Given the description of an element on the screen output the (x, y) to click on. 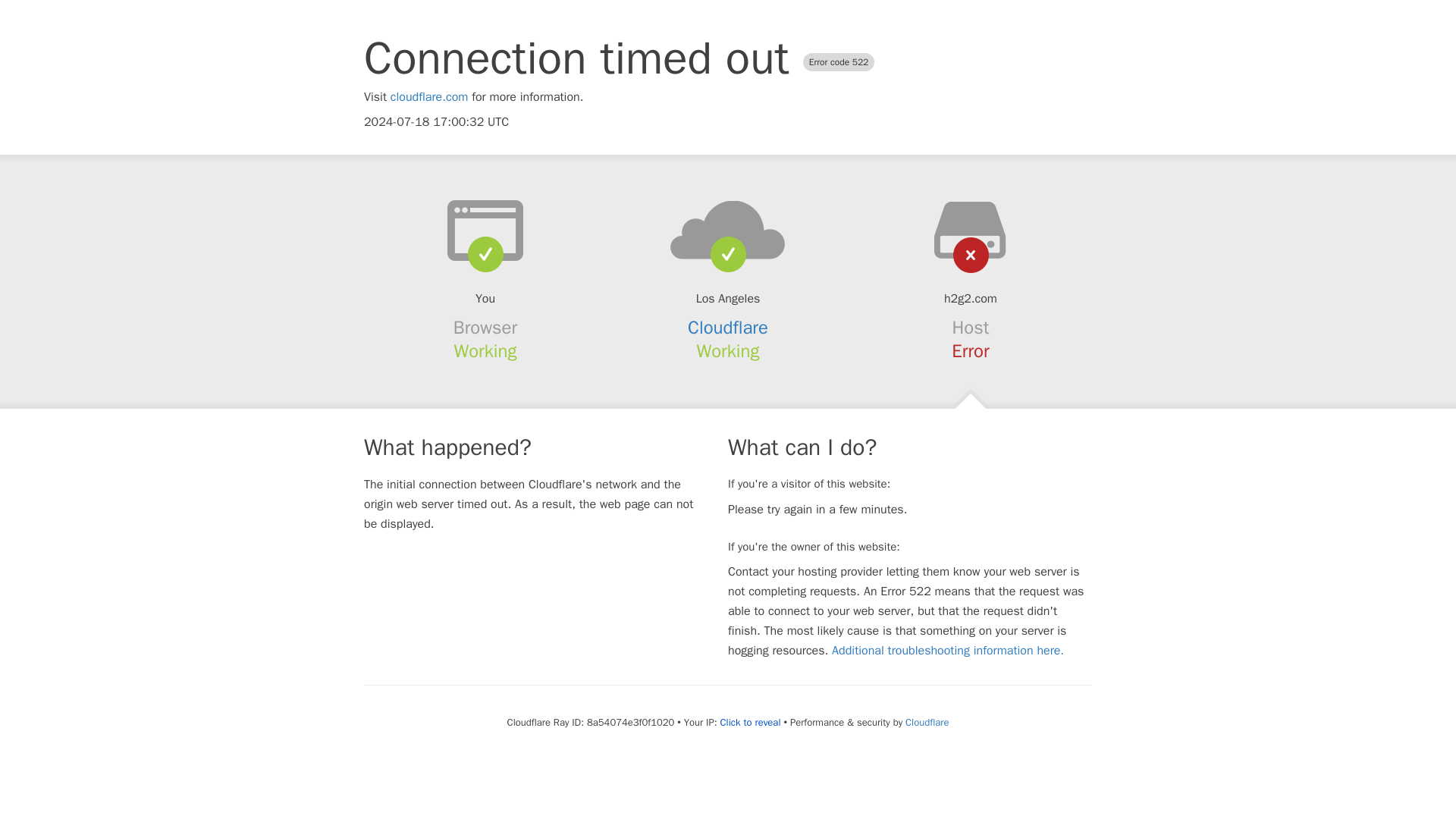
cloudflare.com (429, 96)
Additional troubleshooting information here. (947, 650)
Click to reveal (750, 722)
Cloudflare (927, 721)
Cloudflare (727, 327)
